Given the description of an element on the screen output the (x, y) to click on. 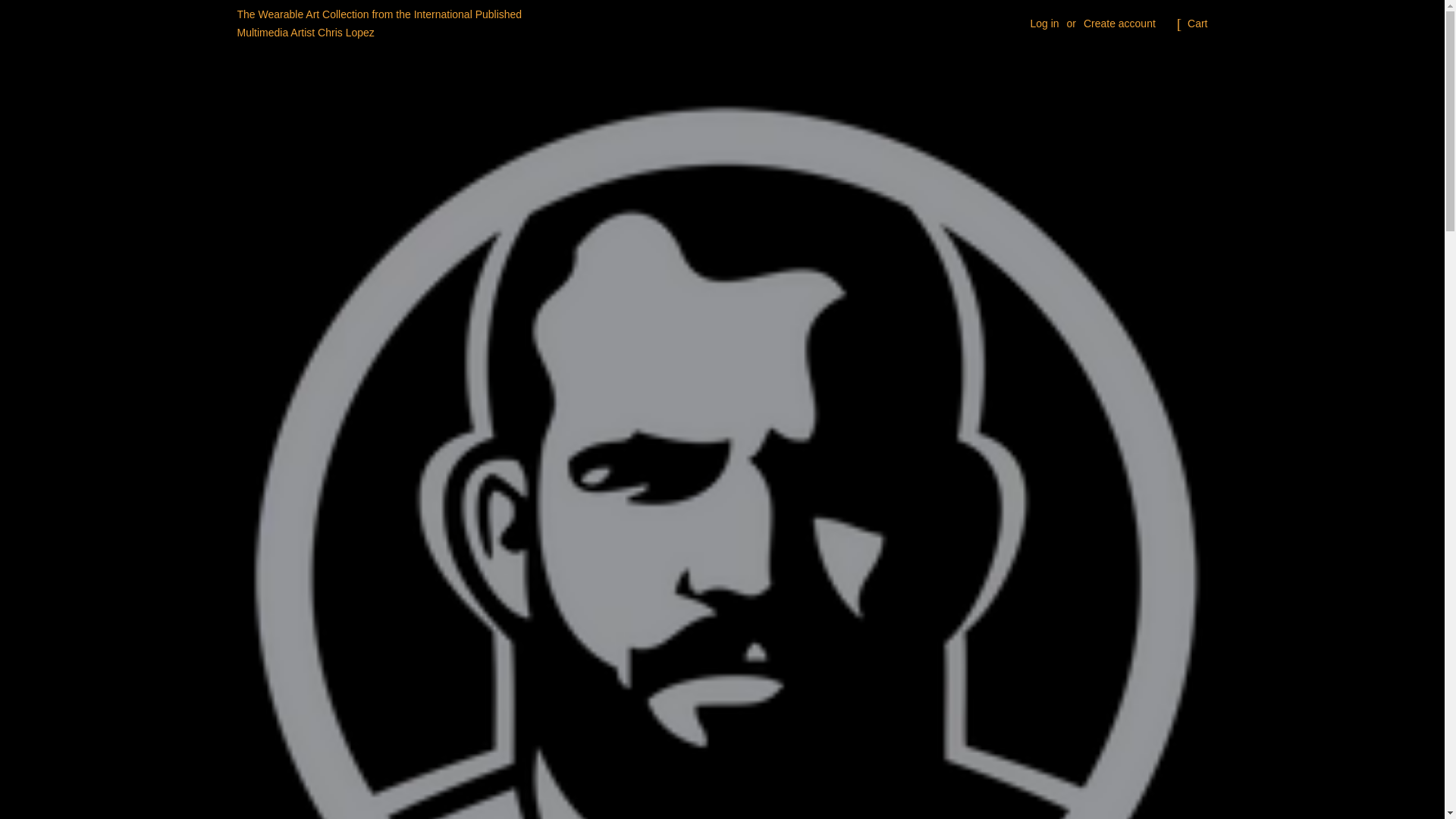
Log in (1043, 23)
Create account (1119, 23)
Cart (1197, 24)
